Given the description of an element on the screen output the (x, y) to click on. 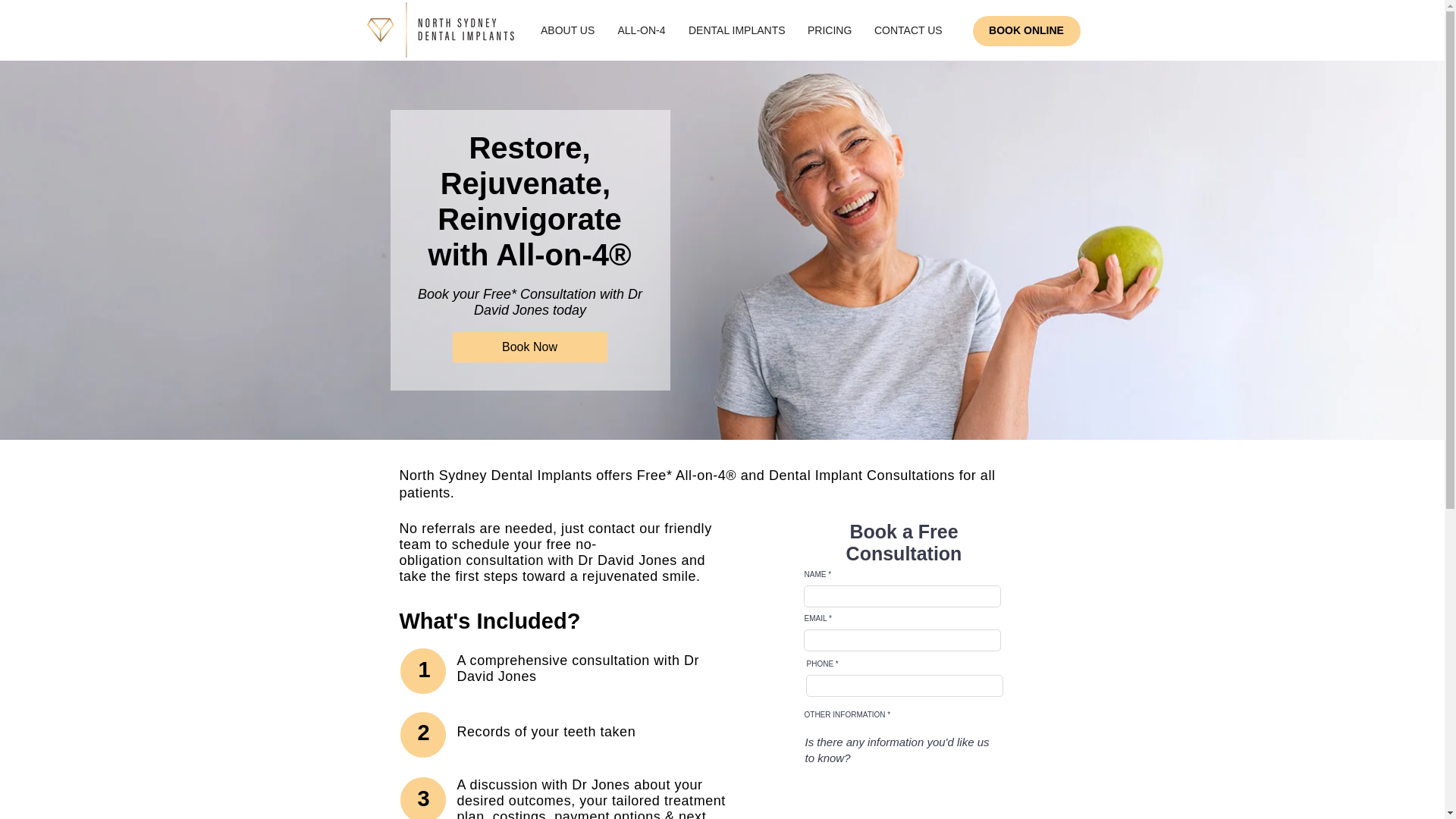
PRICING (829, 30)
DENTAL IMPLANTS (736, 30)
ABOUT US (567, 30)
BOOK ONLINE (1026, 30)
ALL-ON-4 (641, 30)
Book Now (529, 347)
CONTACT US (908, 30)
